Given the description of an element on the screen output the (x, y) to click on. 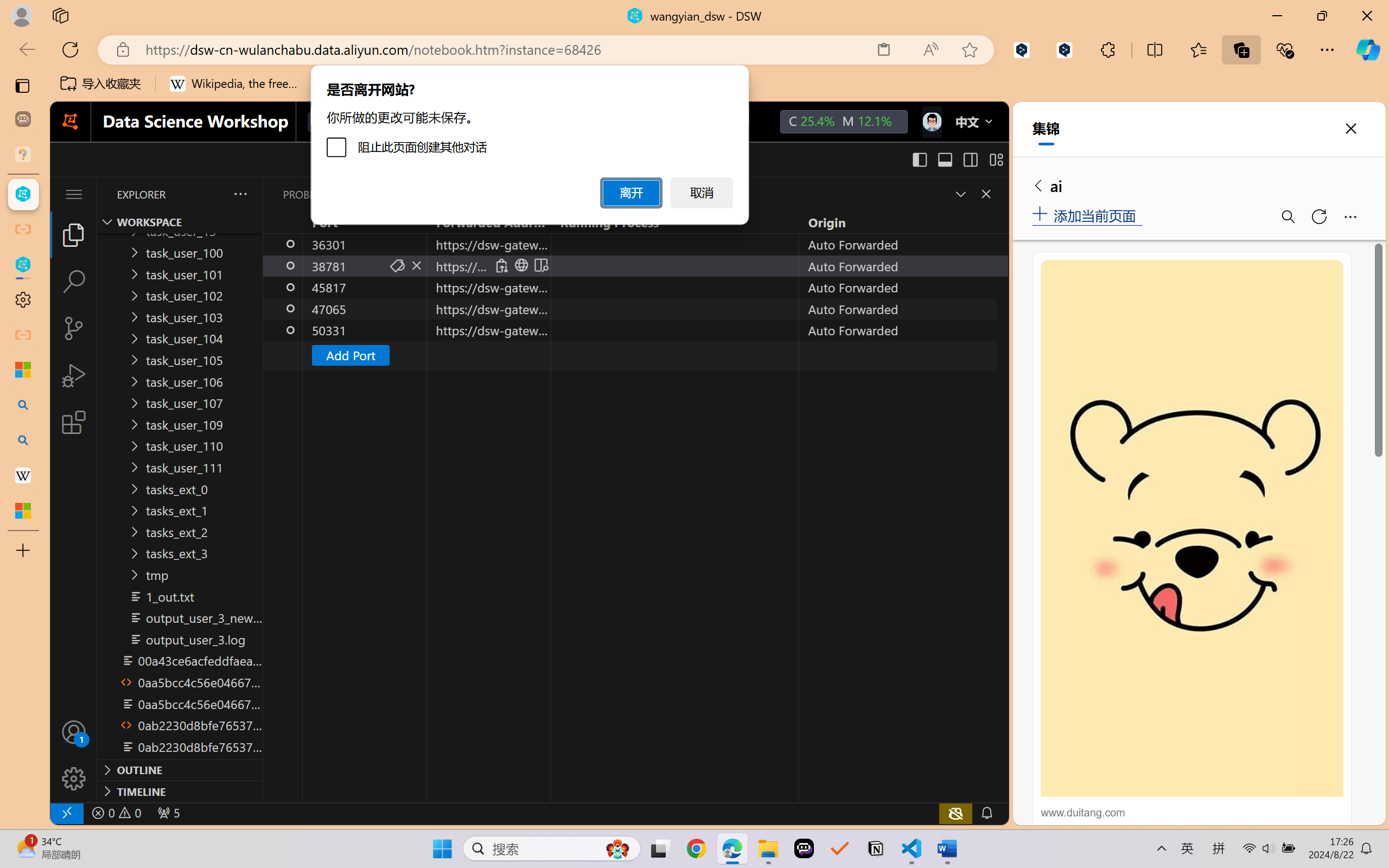
Explorer actions (211, 194)
icon (930, 119)
Copilot (Ctrl+Shift+.) (1368, 49)
wangyian_dsw - DSW (22, 194)
Customize Layout... (995, 159)
